Given the description of an element on the screen output the (x, y) to click on. 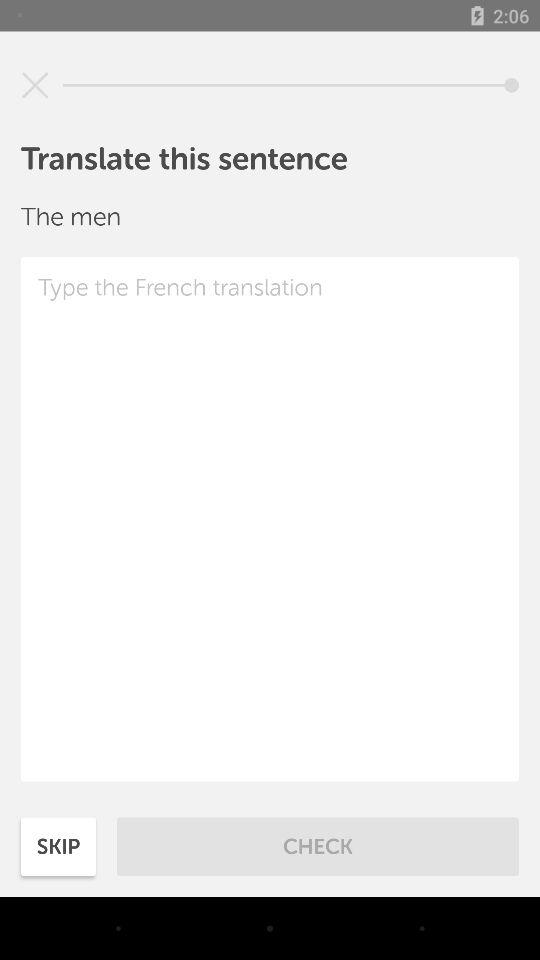
tap the item below the item (270, 519)
